Given the description of an element on the screen output the (x, y) to click on. 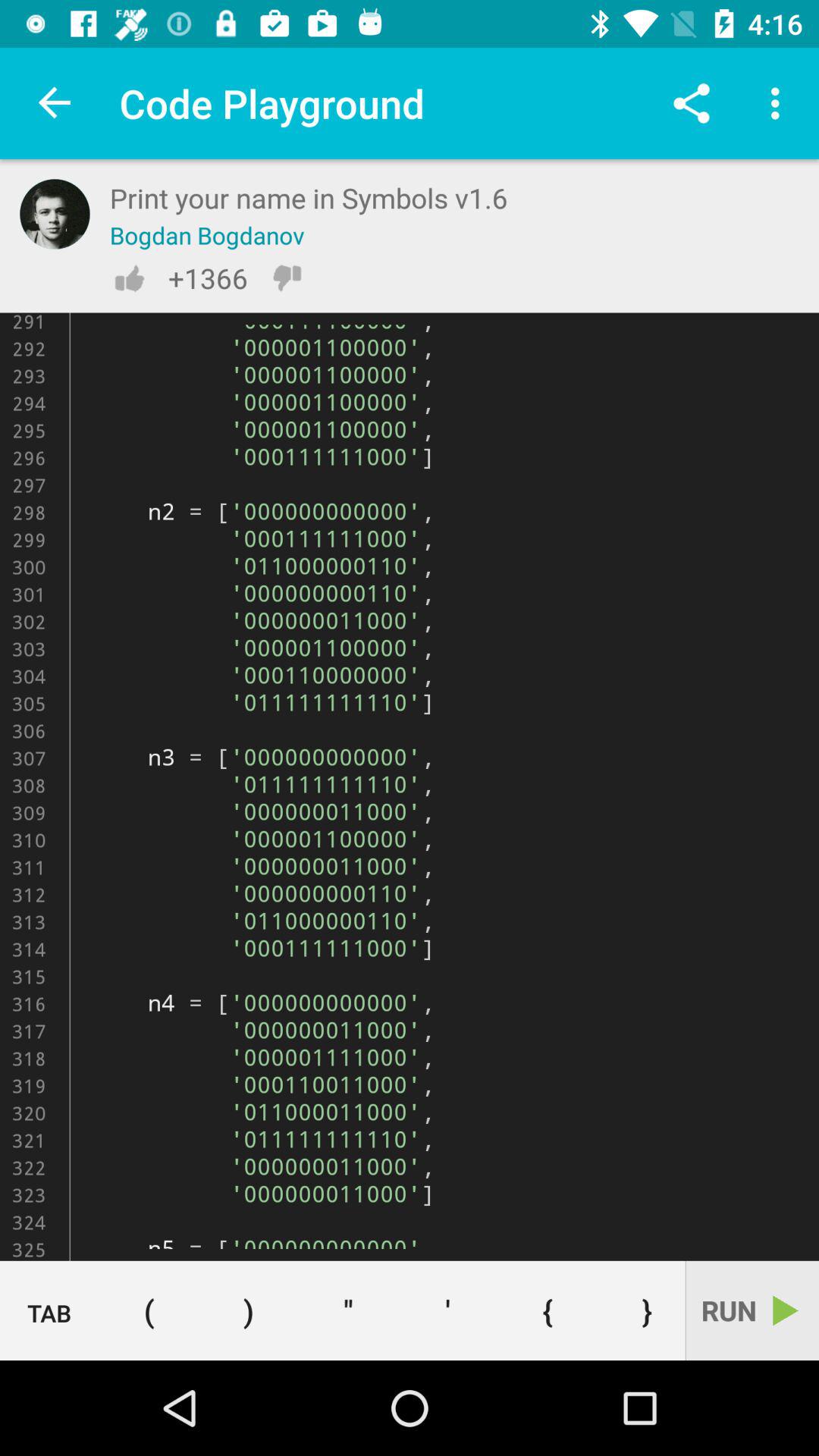
toggle to dislike (286, 277)
